Given the description of an element on the screen output the (x, y) to click on. 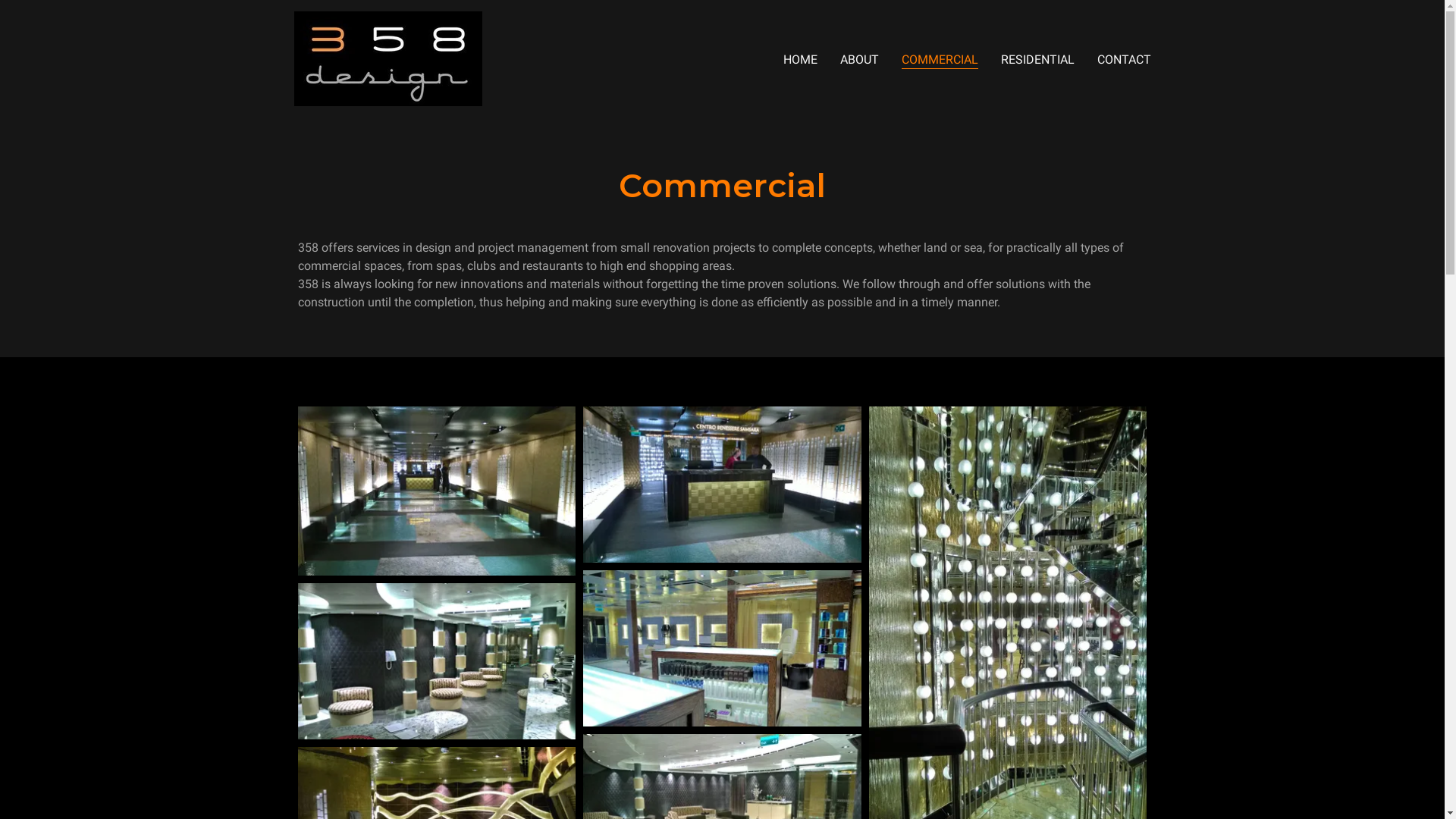
COMMERCIAL Element type: text (938, 60)
358 Design Element type: hover (388, 57)
HOME Element type: text (799, 59)
RESIDENTIAL Element type: text (1037, 59)
ABOUT Element type: text (859, 59)
CONTACT Element type: text (1123, 59)
